Given the description of an element on the screen output the (x, y) to click on. 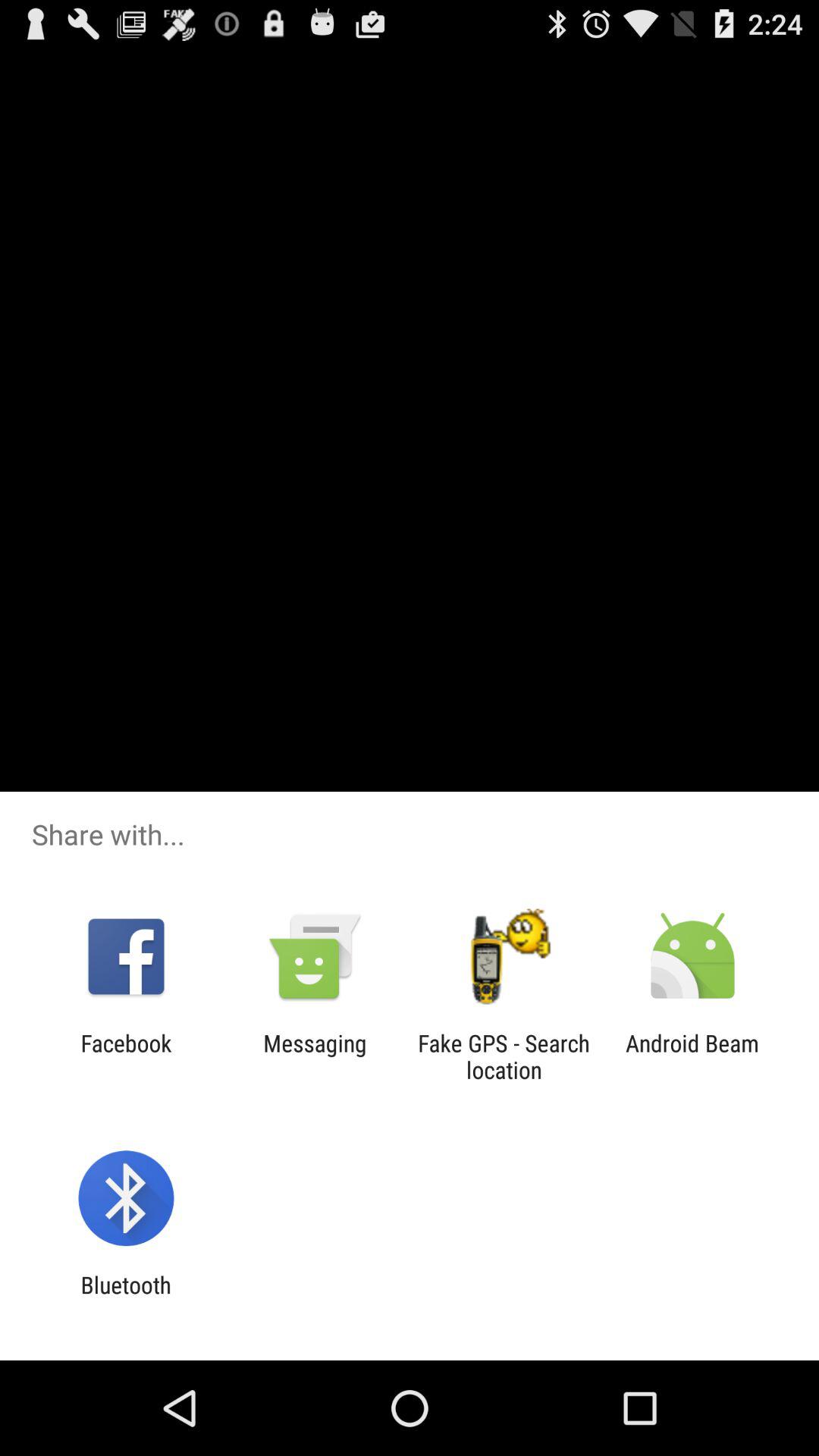
turn on the icon next to messaging (503, 1056)
